Given the description of an element on the screen output the (x, y) to click on. 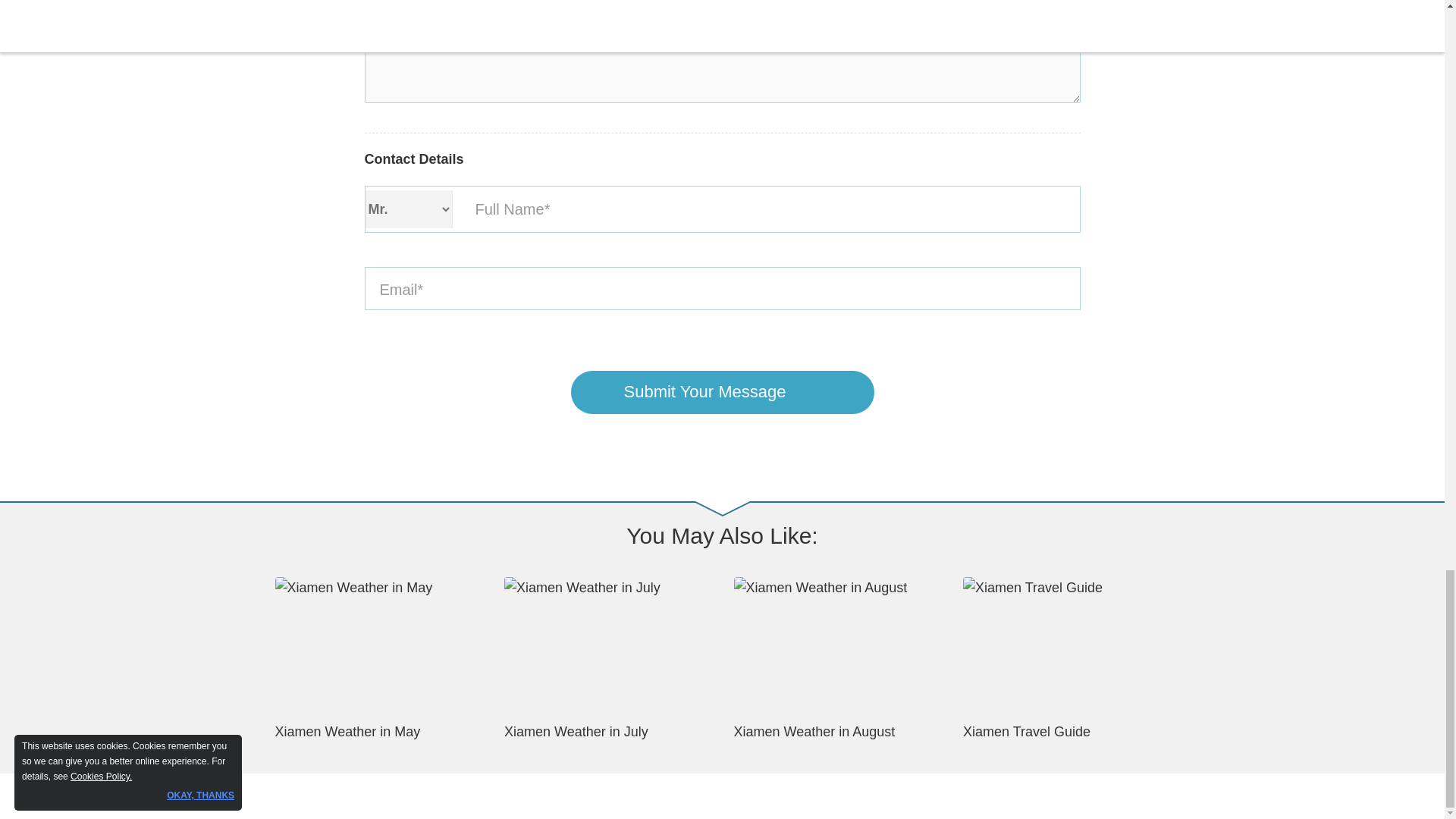
Submit Your Message (721, 392)
Xiamen Weather in May (378, 658)
Submit Your Message (721, 392)
Xiamen Weather in August (836, 658)
Xiamen Weather in July (607, 658)
Xiamen Travel Guide (1066, 658)
